Given the description of an element on the screen output the (x, y) to click on. 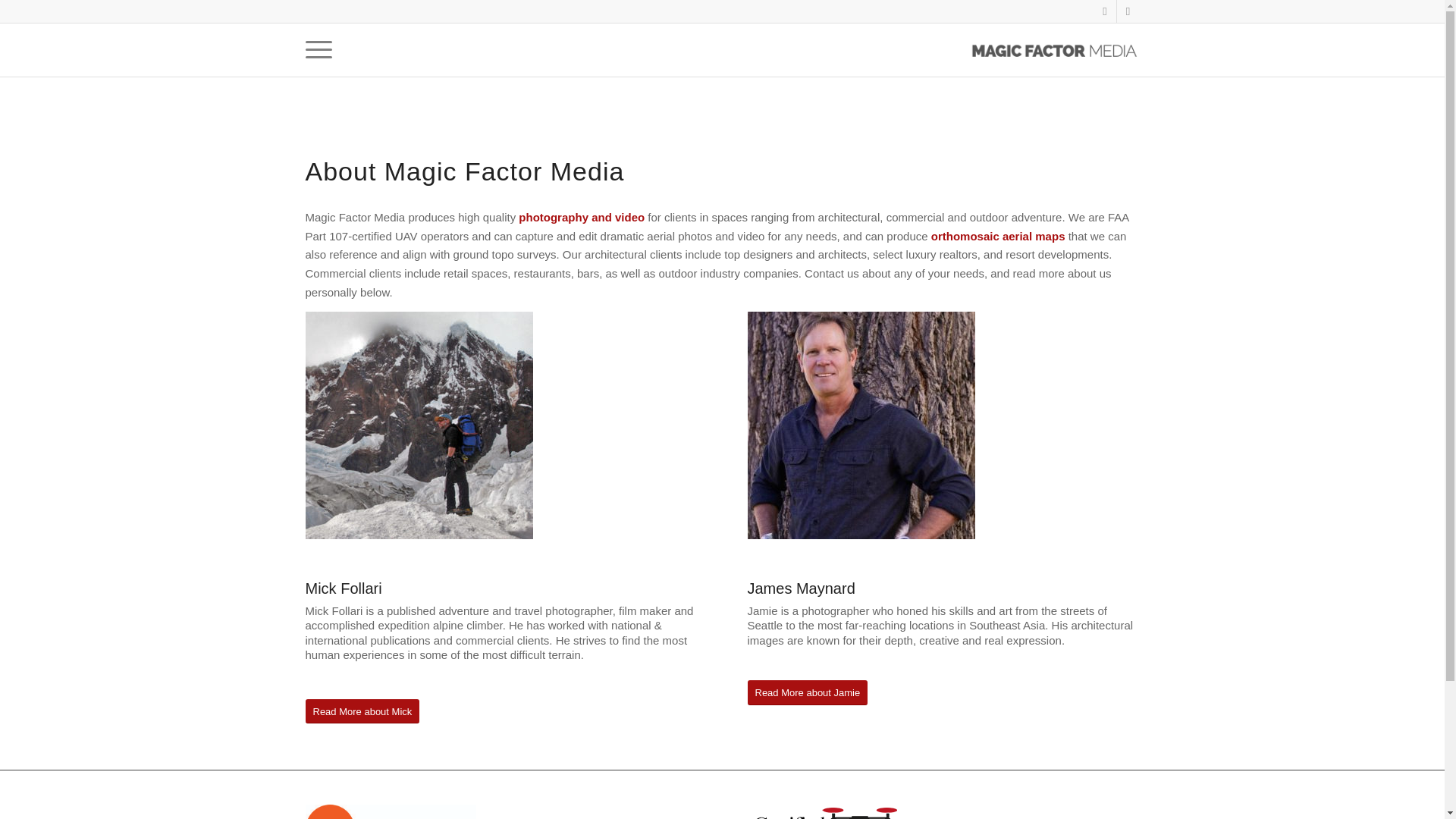
Read More about Jamie (807, 692)
Jamie Bio (861, 425)
Read More about Mick (361, 711)
Facebook (1104, 11)
Mick Follari Bio (418, 425)
Instagram (1127, 11)
